Given the description of an element on the screen output the (x, y) to click on. 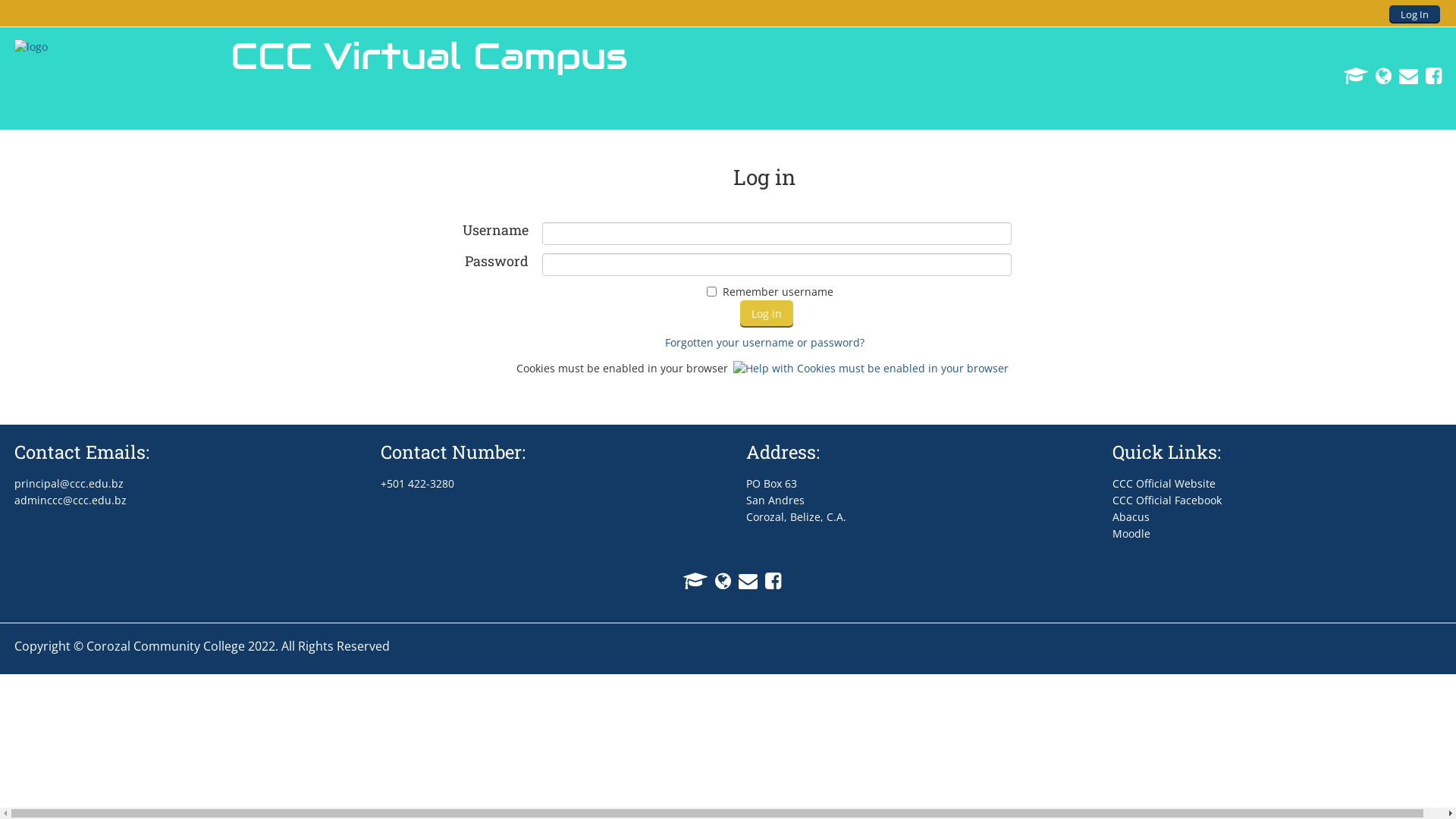
CCC Email Element type: hover (1404, 74)
CCC Facebook Element type: hover (768, 580)
Log in Element type: text (766, 313)
CCC Official Website Element type: text (1163, 483)
Moodle Element type: text (1131, 533)
CCC Website Element type: hover (718, 580)
Help with Cookies must be enabled in your browser Element type: hover (872, 367)
CCC Website Element type: hover (1379, 74)
CCC Email Element type: hover (744, 580)
CCC Abacus Element type: hover (1352, 74)
Forgotten your username or password? Element type: text (764, 342)
Log In Element type: text (1414, 14)
Abacus Element type: text (1130, 516)
CCC Abacus Element type: hover (690, 580)
CCC Facebook Element type: hover (1429, 74)
CCC Official Facebook Element type: text (1166, 499)
